Given the description of an element on the screen output the (x, y) to click on. 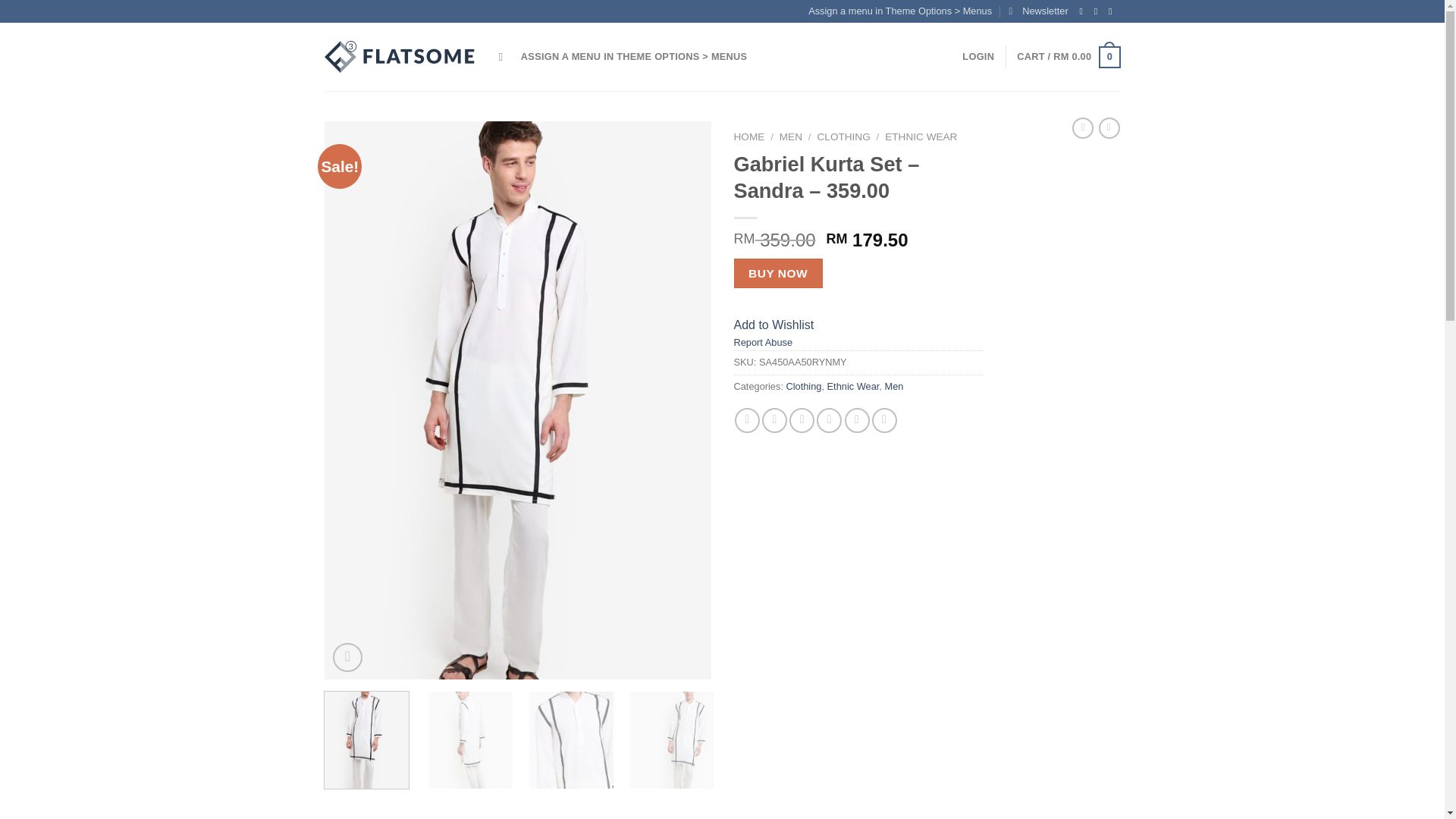
BUY NOW (777, 273)
HOME (749, 136)
Cart (1067, 57)
Email to a Friend (801, 420)
ETHNIC WEAR (920, 136)
MEN (790, 136)
Share on Twitter (774, 420)
Sign up for Newsletter (1038, 11)
CanCanLah.com - Your one-stop online shop (400, 56)
Share on Facebook (747, 420)
LOGIN (978, 56)
Zoom (347, 657)
CLOTHING (843, 136)
Newsletter (1038, 11)
